Given the description of an element on the screen output the (x, y) to click on. 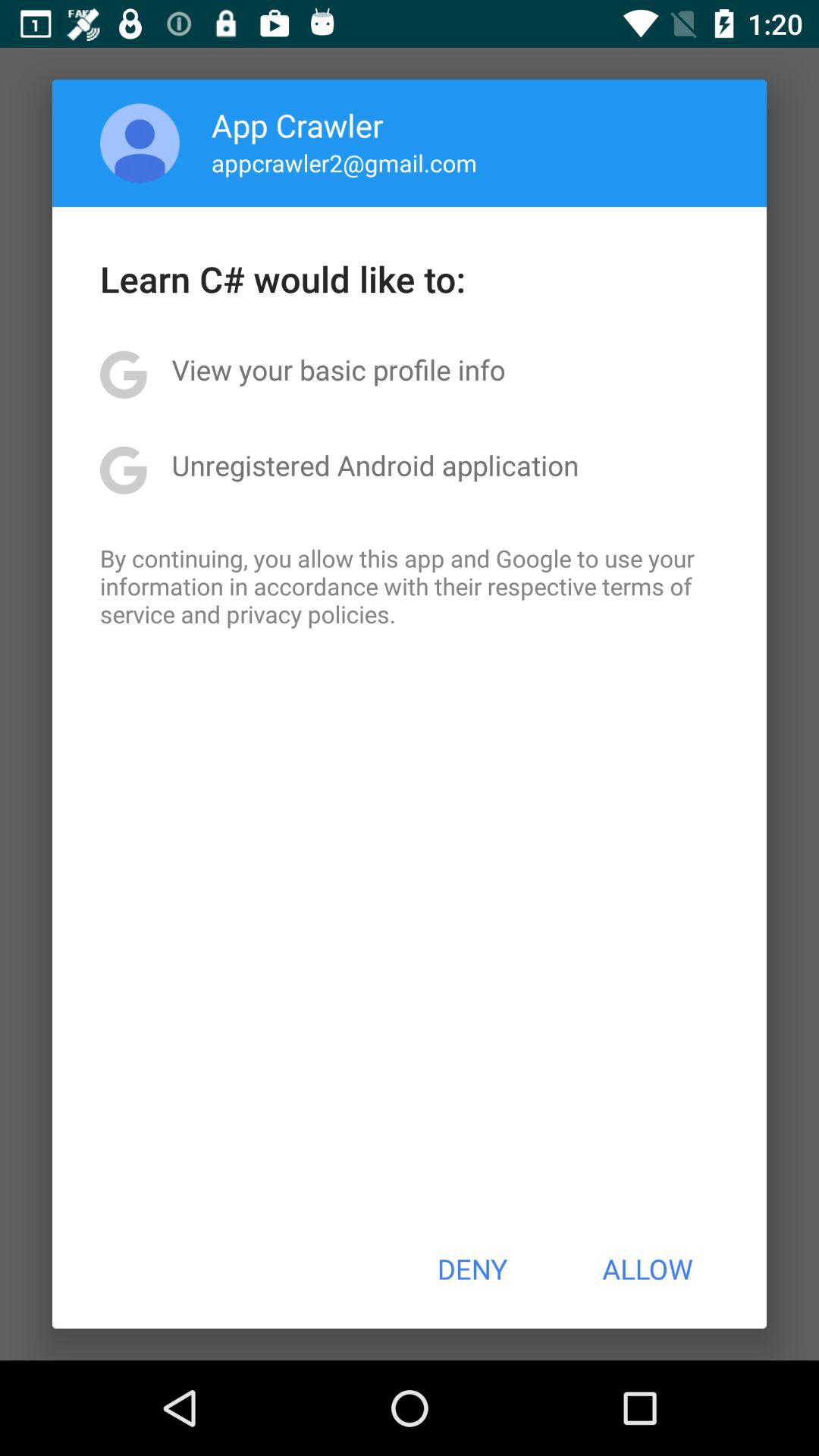
press app above unregistered android application app (338, 369)
